Given the description of an element on the screen output the (x, y) to click on. 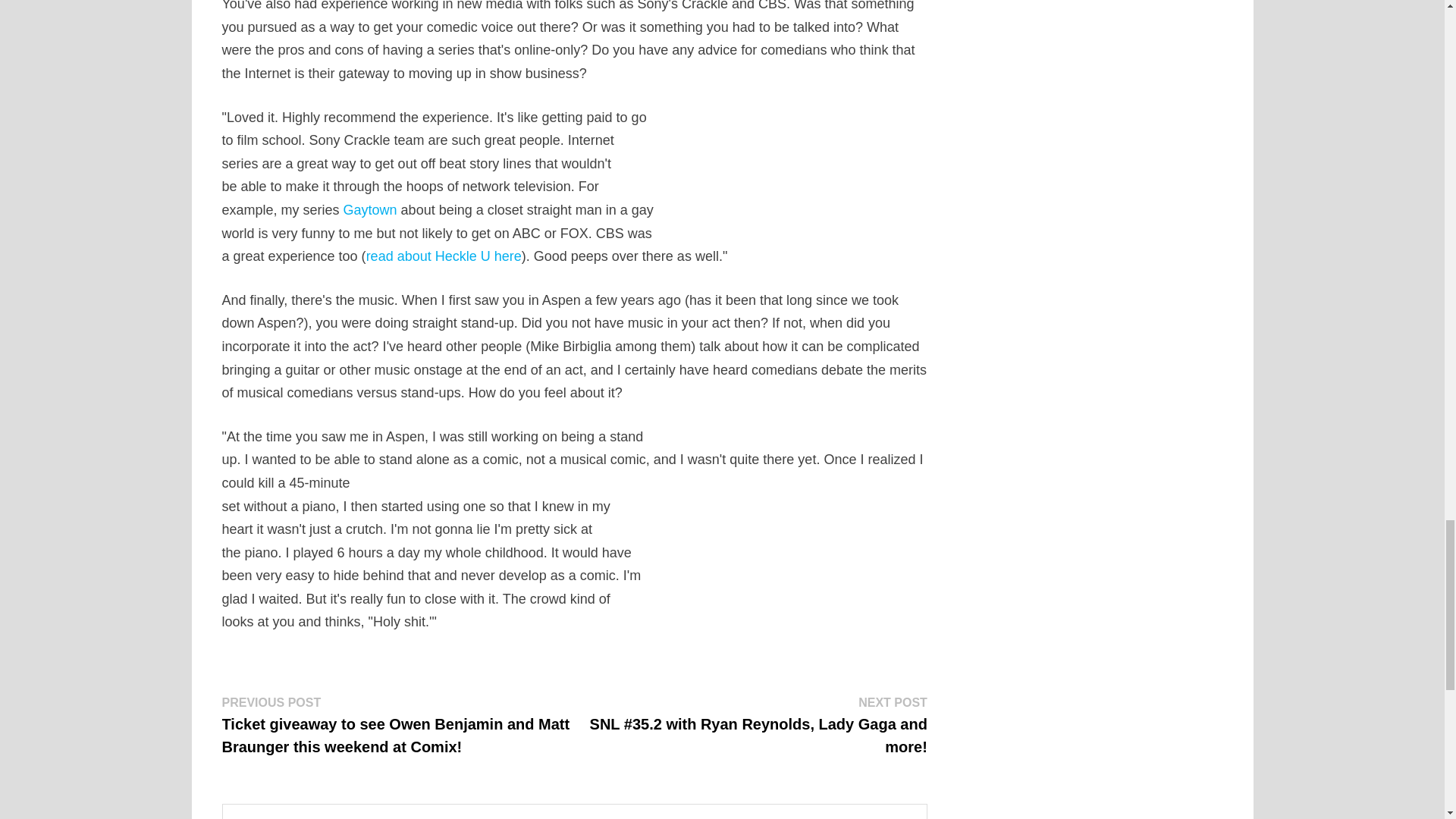
read about Heckle U here (443, 255)
Gaytown (370, 209)
